Given the description of an element on the screen output the (x, y) to click on. 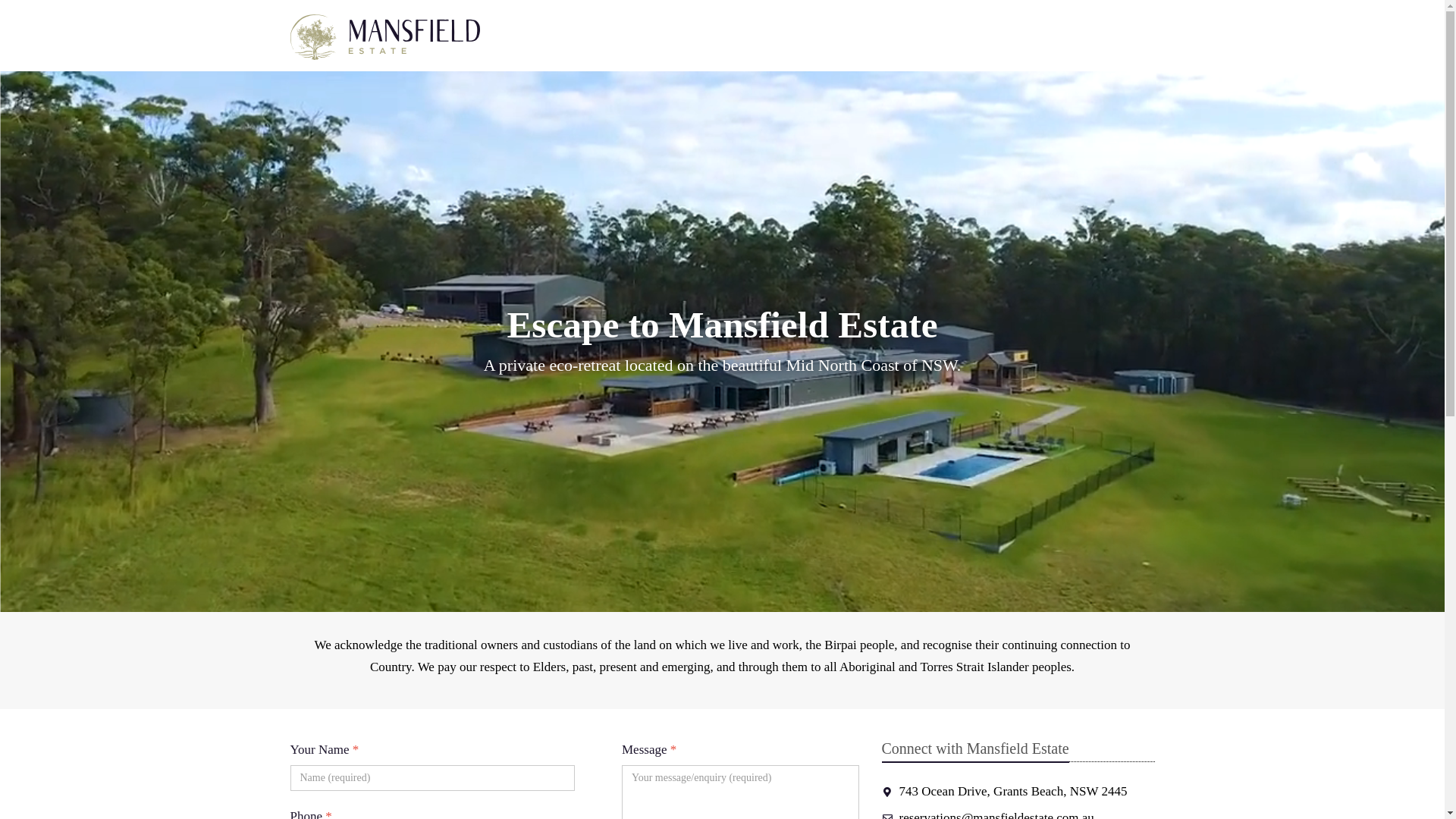
743 Ocean Drive, Grants Beach, NSW 2445 Element type: text (1003, 791)
